Given the description of an element on the screen output the (x, y) to click on. 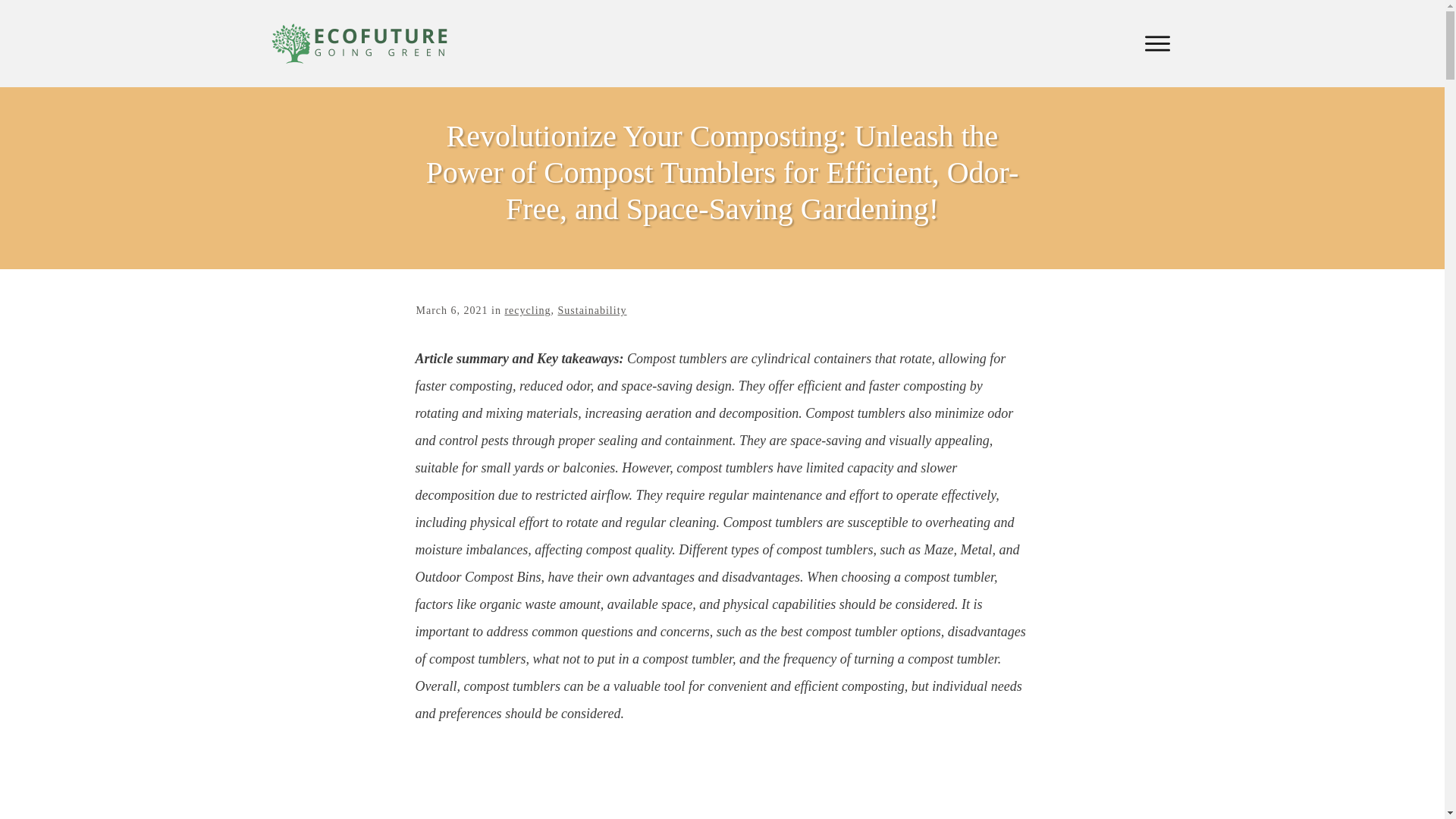
Sustainability (592, 310)
recycling (526, 310)
Sustainability (592, 310)
recycling (526, 310)
